Given the description of an element on the screen output the (x, y) to click on. 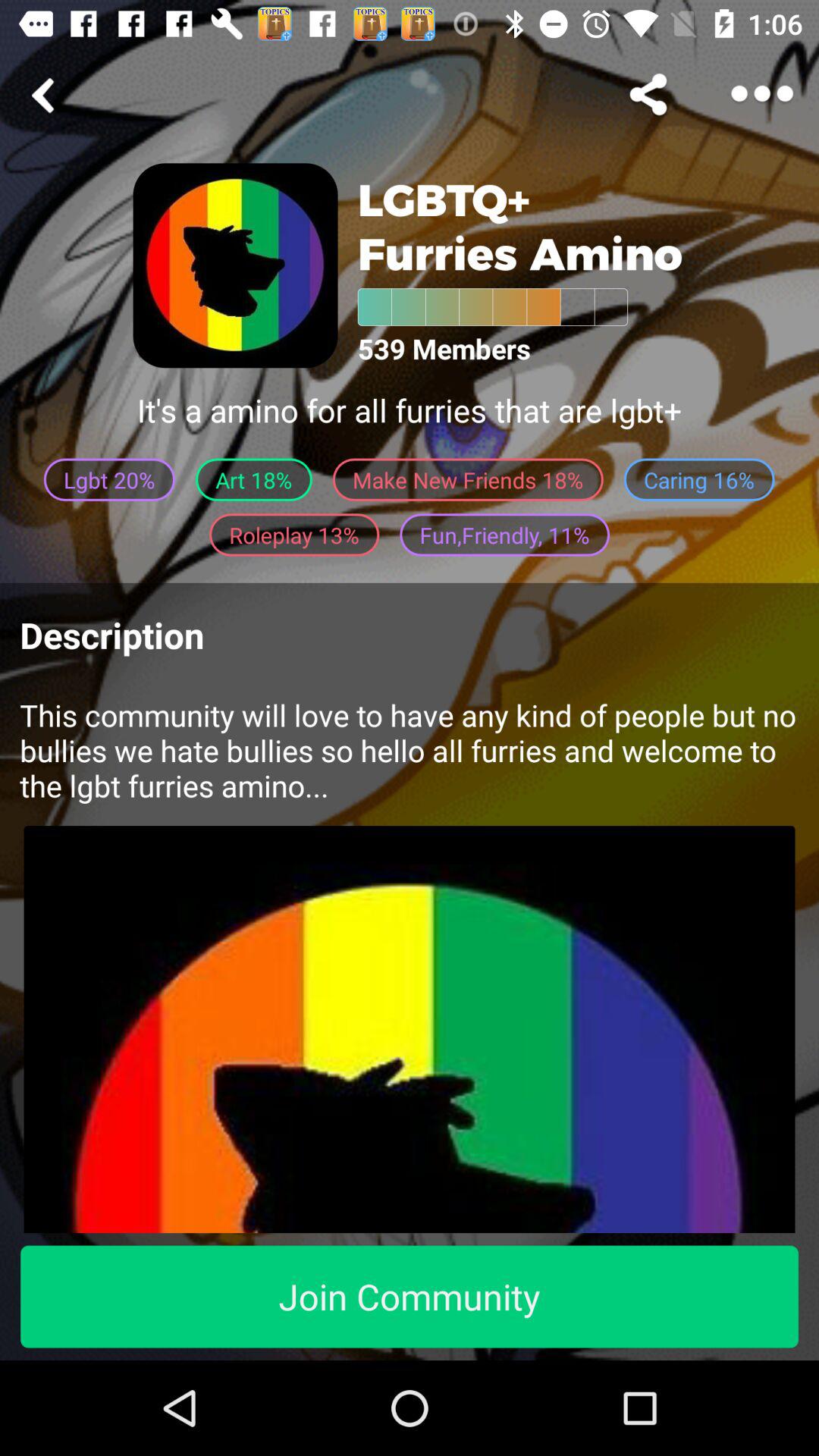
share the article (45, 95)
